Given the description of an element on the screen output the (x, y) to click on. 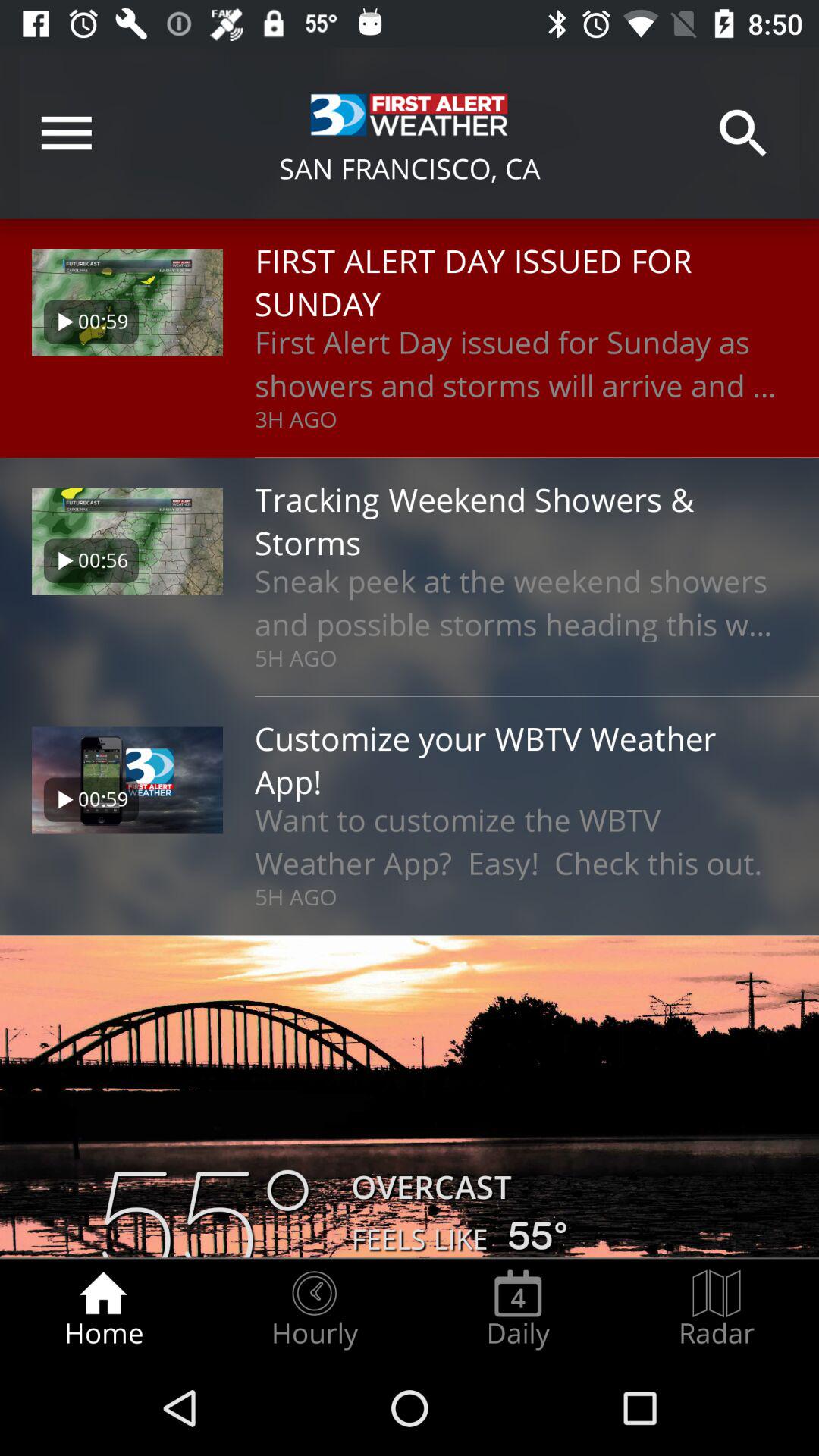
click icon to the left of daily item (314, 1309)
